Given the description of an element on the screen output the (x, y) to click on. 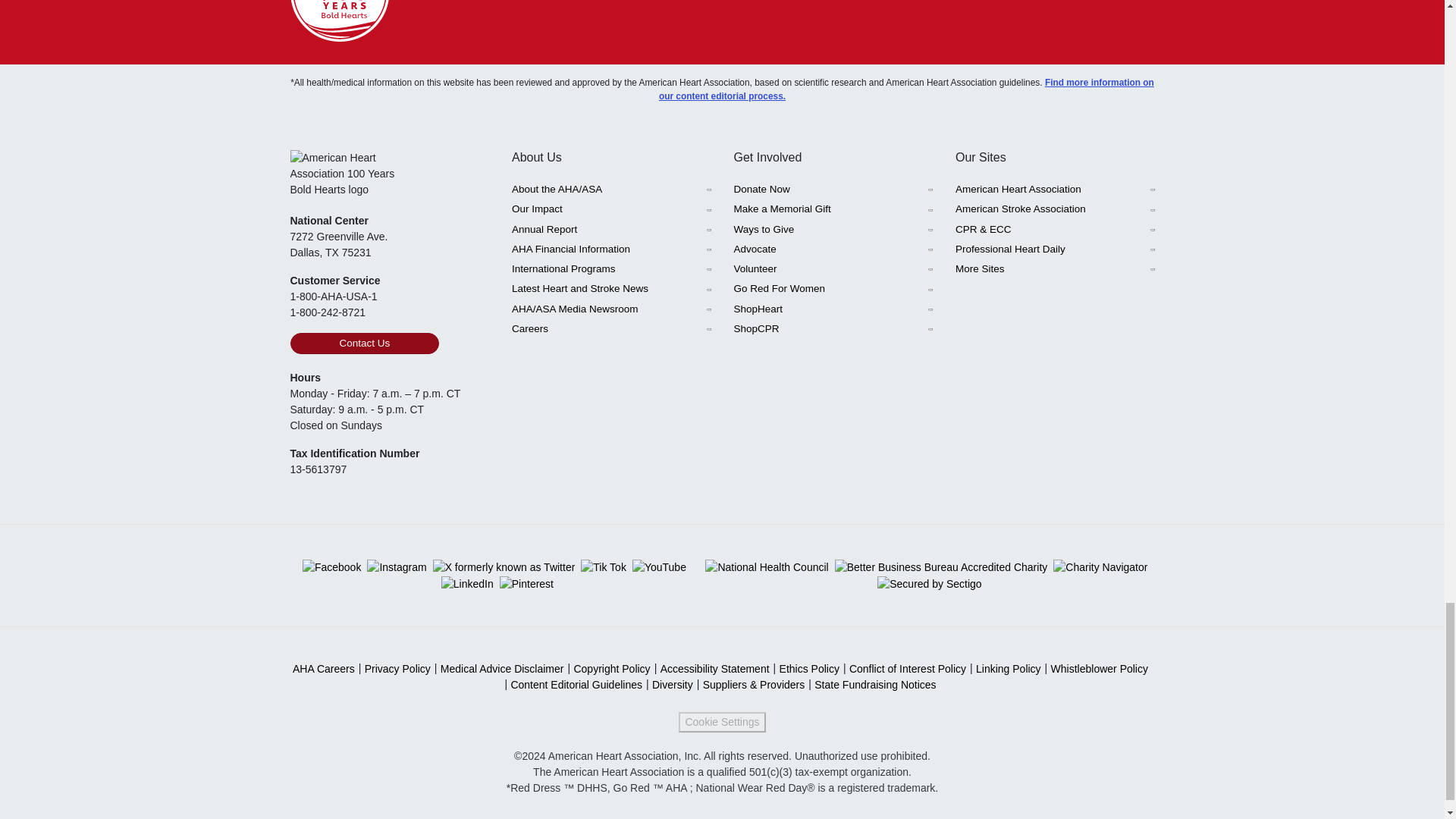
Our Impact (611, 209)
Volunteer (833, 269)
Donate Now (833, 189)
Advocate (833, 249)
Latest Heart and Stroke News (611, 288)
Ways to Give (833, 229)
Careers (611, 329)
Annual Report (611, 229)
AHA Financial Information (611, 249)
Make a Memorial Gift (833, 209)
International Programs (611, 269)
